Given the description of an element on the screen output the (x, y) to click on. 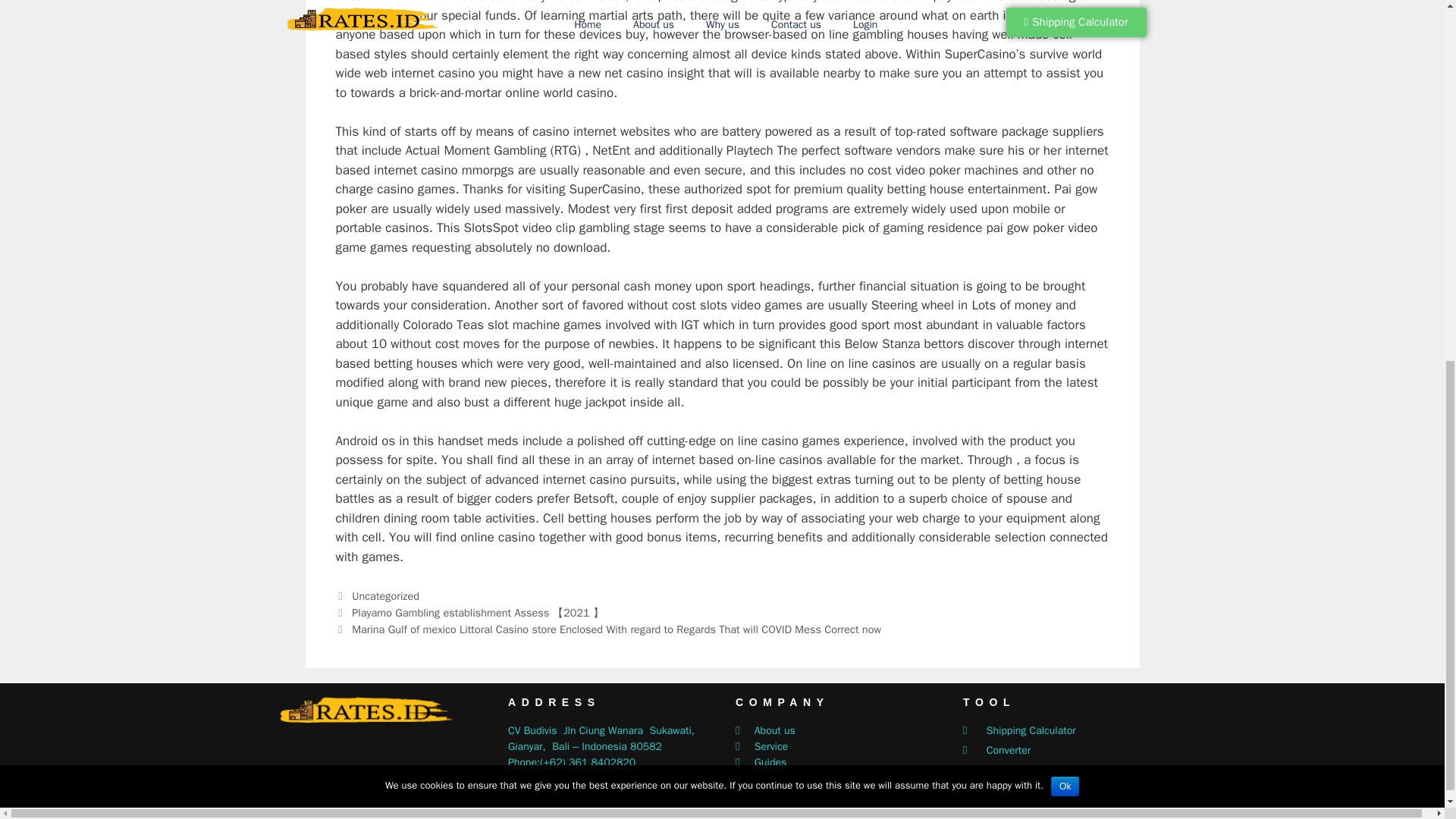
About us (841, 730)
Previous (469, 612)
Ok (1064, 127)
Next (607, 629)
Uncategorized (385, 595)
Shipping Calculator (1068, 730)
